Given the description of an element on the screen output the (x, y) to click on. 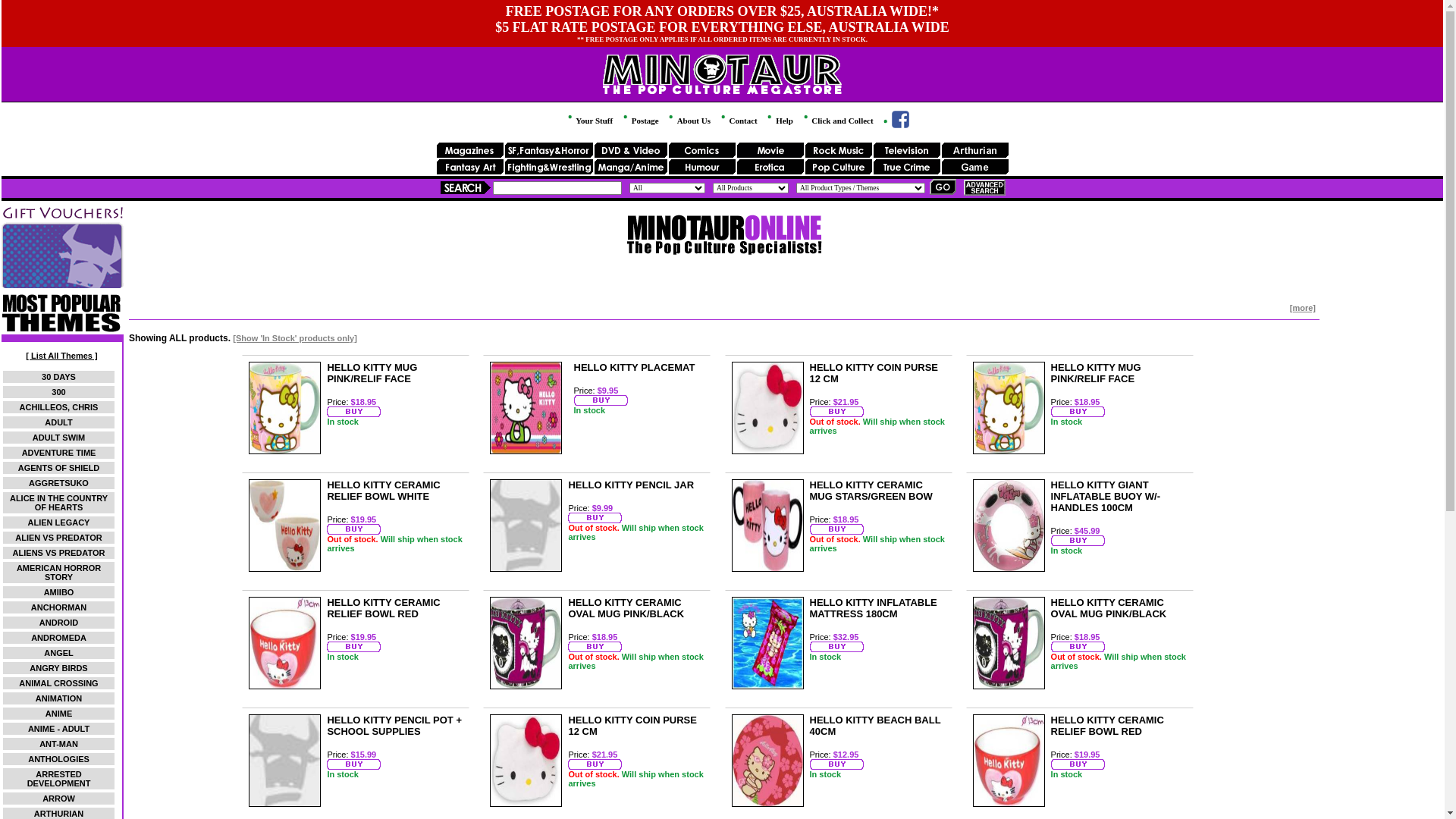
ARRESTED DEVELOPMENT Element type: text (59, 778)
ANDROID Element type: text (58, 622)
AGGRETSUKO Element type: text (58, 482)
 Help Element type: text (778, 120)
AMERICAN HORROR STORY Element type: text (58, 572)
[more] Element type: text (1302, 307)
30 DAYS Element type: text (58, 376)
HELLO KITTY CERAMIC OVAL MUG PINK/BLACK Element type: text (625, 607)
ARROW Element type: text (58, 798)
HELLO KITTY INFLATABLE MATTRESS 180CM Element type: text (873, 607)
HELLO KITTY PLACEMAT Element type: text (634, 367)
[Show 'In Stock' products only] Element type: text (294, 337)
HELLO KITTY MUG PINK/RELIF FACE Element type: text (371, 372)
 Postage Element type: text (639, 120)
HELLO KITTY BEACH BALL 40CM Element type: text (875, 725)
ARTHURIAN Element type: text (58, 813)
 About Us Element type: text (688, 120)
Minotaur Entertainment - The Pop Culture Megastore Element type: hover (721, 69)
AGENTS OF SHIELD Element type: text (59, 467)
HELLO KITTY PENCIL JAR Element type: text (630, 484)
ALIEN VS PREDATOR Element type: text (58, 537)
ADULT Element type: text (58, 421)
 Your Stuff Element type: text (589, 120)
  Element type: text (894, 124)
ANGEL Element type: text (58, 652)
 Click and Collect Element type: text (837, 120)
[ List All Themes ] Element type: text (61, 355)
ANGRY BIRDS Element type: text (58, 667)
ADVENTURE TIME Element type: text (58, 452)
HELLO KITTY GIANT INFLATABLE BUOY W/- HANDLES 100CM Element type: text (1105, 496)
Minotaur Entertainment - The Pop Culture Megastore Element type: hover (721, 89)
300 Element type: text (58, 391)
ACHILLEOS, CHRIS Element type: text (58, 406)
HELLO KITTY COIN PURSE 12 CM Element type: text (873, 372)
HELLO KITTY CERAMIC RELIEF BOWL RED Element type: text (1107, 725)
ADULT SWIM Element type: text (58, 437)
HELLO KITTY COIN PURSE 12 CM Element type: text (631, 725)
HELLO KITTY CERAMIC MUG STARS/GREEN BOW Element type: text (870, 490)
ANIMATION Element type: text (58, 697)
ANT-MAN Element type: text (58, 743)
AMIIBO Element type: text (58, 591)
HELLO KITTY CERAMIC RELIEF BOWL WHITE Element type: text (382, 490)
ALIEN LEGACY Element type: text (59, 522)
HELLO KITTY PENCIL POT + SCHOOL SUPPLIES Element type: text (393, 725)
ANIMAL CROSSING Element type: text (57, 682)
HELLO KITTY CERAMIC OVAL MUG PINK/BLACK Element type: text (1109, 607)
ALICE IN THE COUNTRY OF HEARTS Element type: text (58, 502)
ANIME - ADULT Element type: text (58, 728)
ANTHOLOGIES Element type: text (58, 758)
HELLO KITTY CERAMIC RELIEF BOWL RED Element type: text (382, 607)
ANDROMEDA Element type: text (58, 637)
 Contact Element type: text (738, 120)
Find us on Facebook Element type: hover (894, 124)
HELLO KITTY MUG PINK/RELIF FACE Element type: text (1096, 372)
ALIENS VS PREDATOR Element type: text (58, 552)
ANIME Element type: text (58, 713)
ANCHORMAN Element type: text (58, 606)
